Given the description of an element on the screen output the (x, y) to click on. 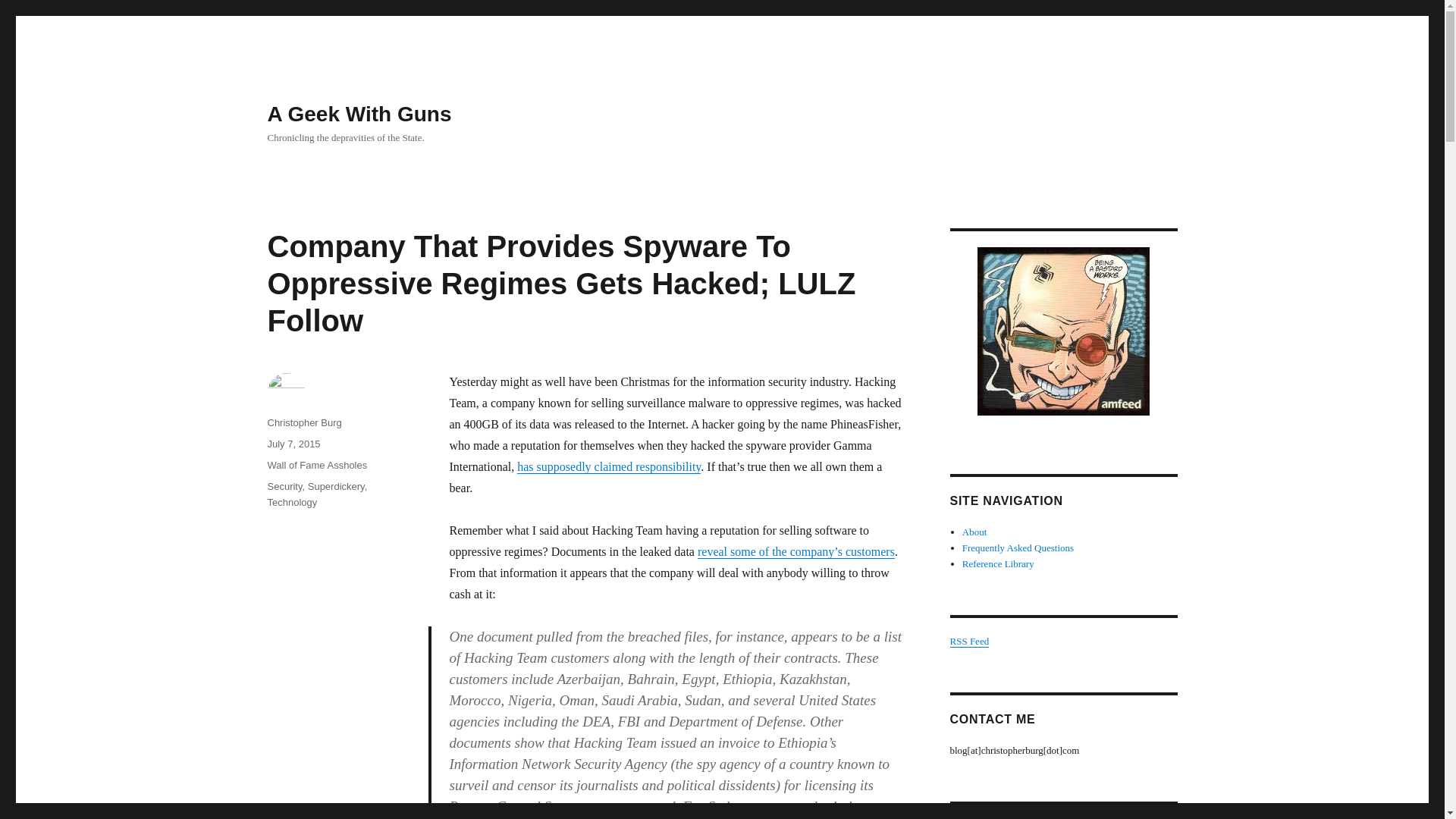
July 7, 2015 (293, 443)
Christopher Burg (303, 422)
Security (283, 486)
A Geek With Guns (358, 114)
RSS Feed (968, 641)
has supposedly claimed responsibility (608, 466)
Reference Library (997, 563)
About (974, 531)
Wall of Fame Assholes (316, 464)
Technology (291, 501)
Superdickery (336, 486)
Frequently Asked Questions (1018, 547)
